Given the description of an element on the screen output the (x, y) to click on. 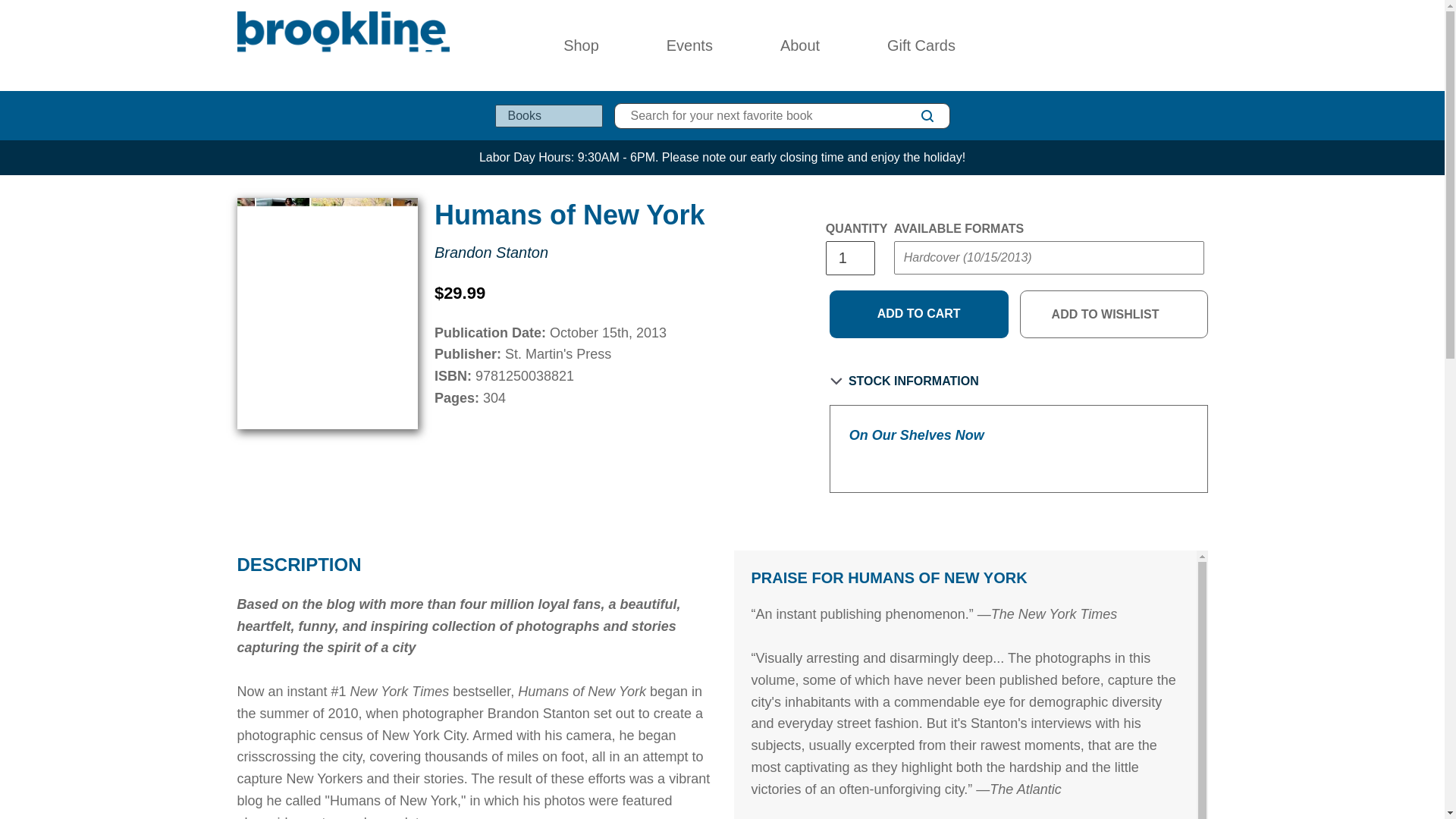
Log in (1134, 45)
Gift Cards (921, 45)
Submit (922, 288)
Cart (1201, 45)
SEARCH (926, 116)
ADD TO WISHLIST (1114, 314)
Add to cart (919, 314)
Wishlist (1168, 45)
Brandon Stanton (490, 252)
Wishlists (1168, 45)
